Given the description of an element on the screen output the (x, y) to click on. 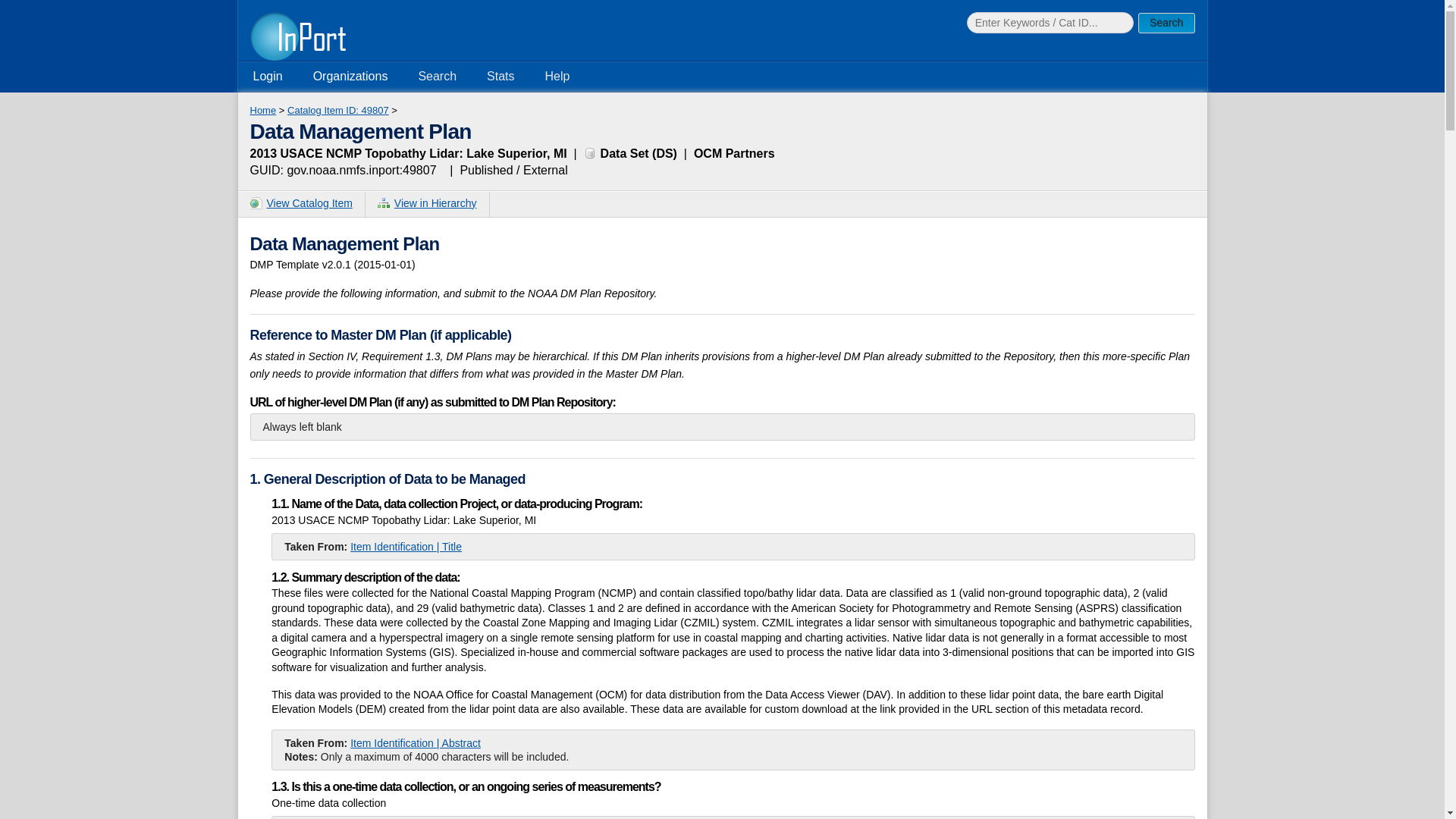
Search (1165, 22)
View in Hierarchy (427, 204)
InPort - NMFS Enterprise Data Management Program (298, 36)
Help (557, 76)
View this Item within the Catalog Hierarchy (427, 203)
View the full Catalog Item (301, 203)
Search (437, 76)
View Catalog Item (301, 204)
Stats (500, 76)
Search (1165, 22)
Catalog Item ID: 49807 (337, 110)
Home (263, 110)
